Given the description of an element on the screen output the (x, y) to click on. 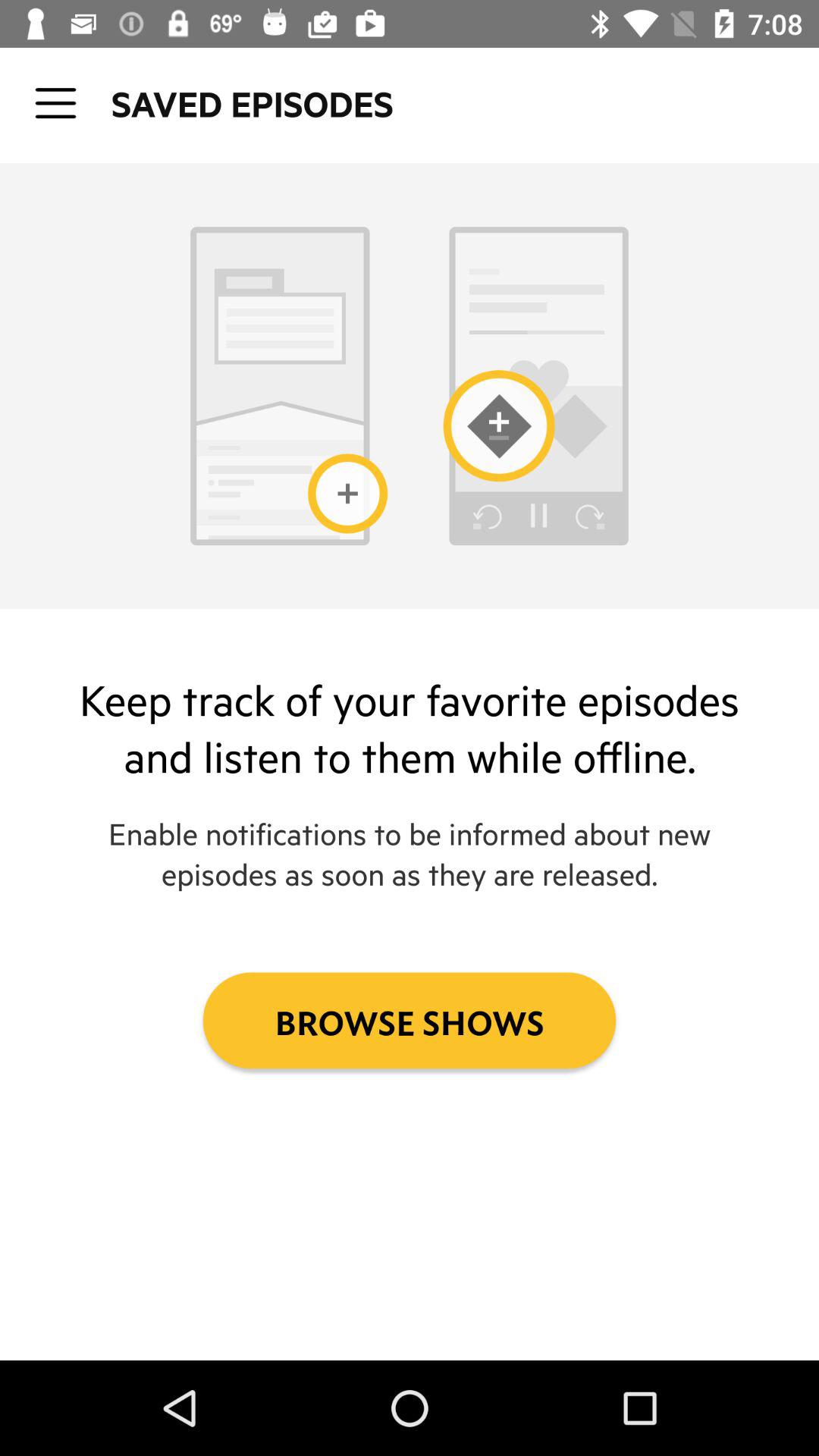
launch icon next to the saved episodes icon (55, 103)
